Given the description of an element on the screen output the (x, y) to click on. 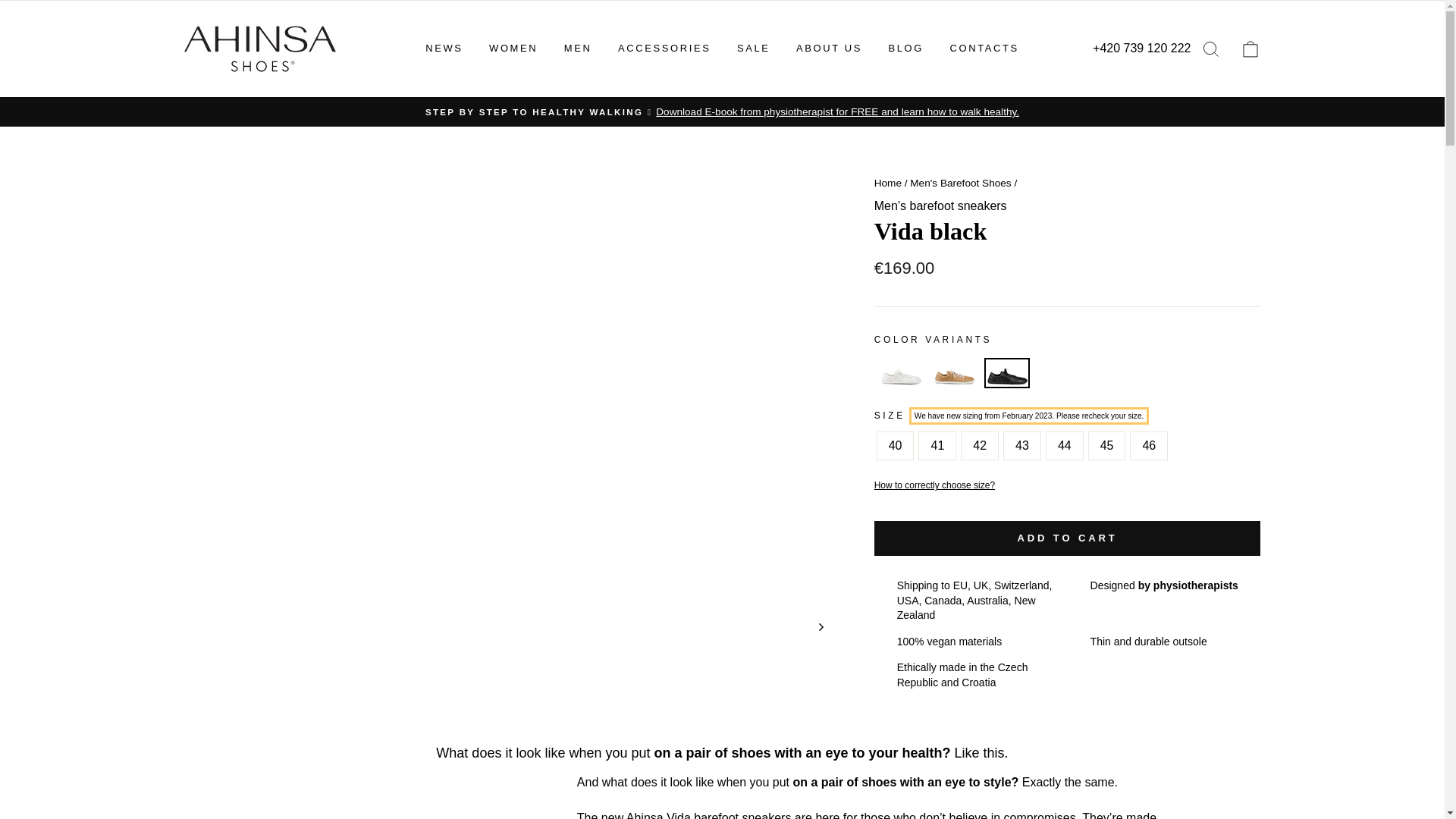
Back to the frontpage (888, 183)
